Given the description of an element on the screen output the (x, y) to click on. 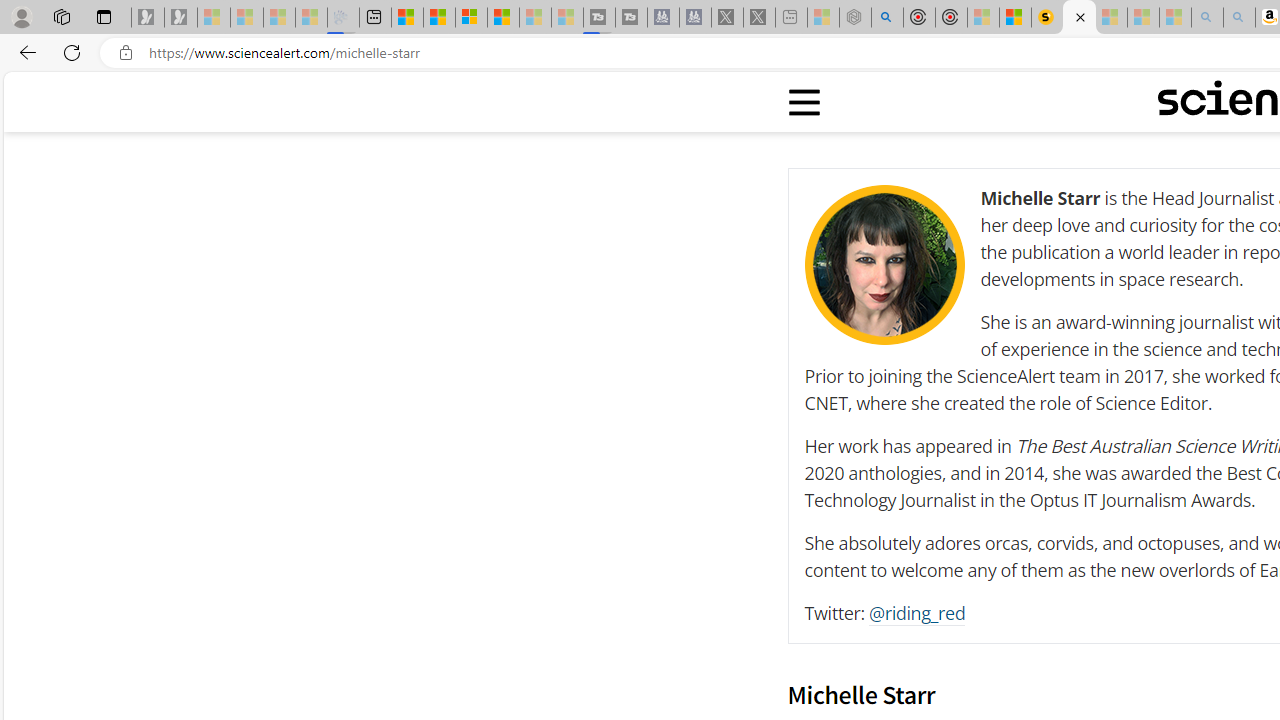
Our Team (884, 264)
Wildlife - MSN - Sleeping (822, 17)
Michelle Starr, Senior Journalist at ScienceAlert (1078, 17)
Overview (471, 17)
Newsletter Sign Up - Sleeping (181, 17)
